Given the description of an element on the screen output the (x, y) to click on. 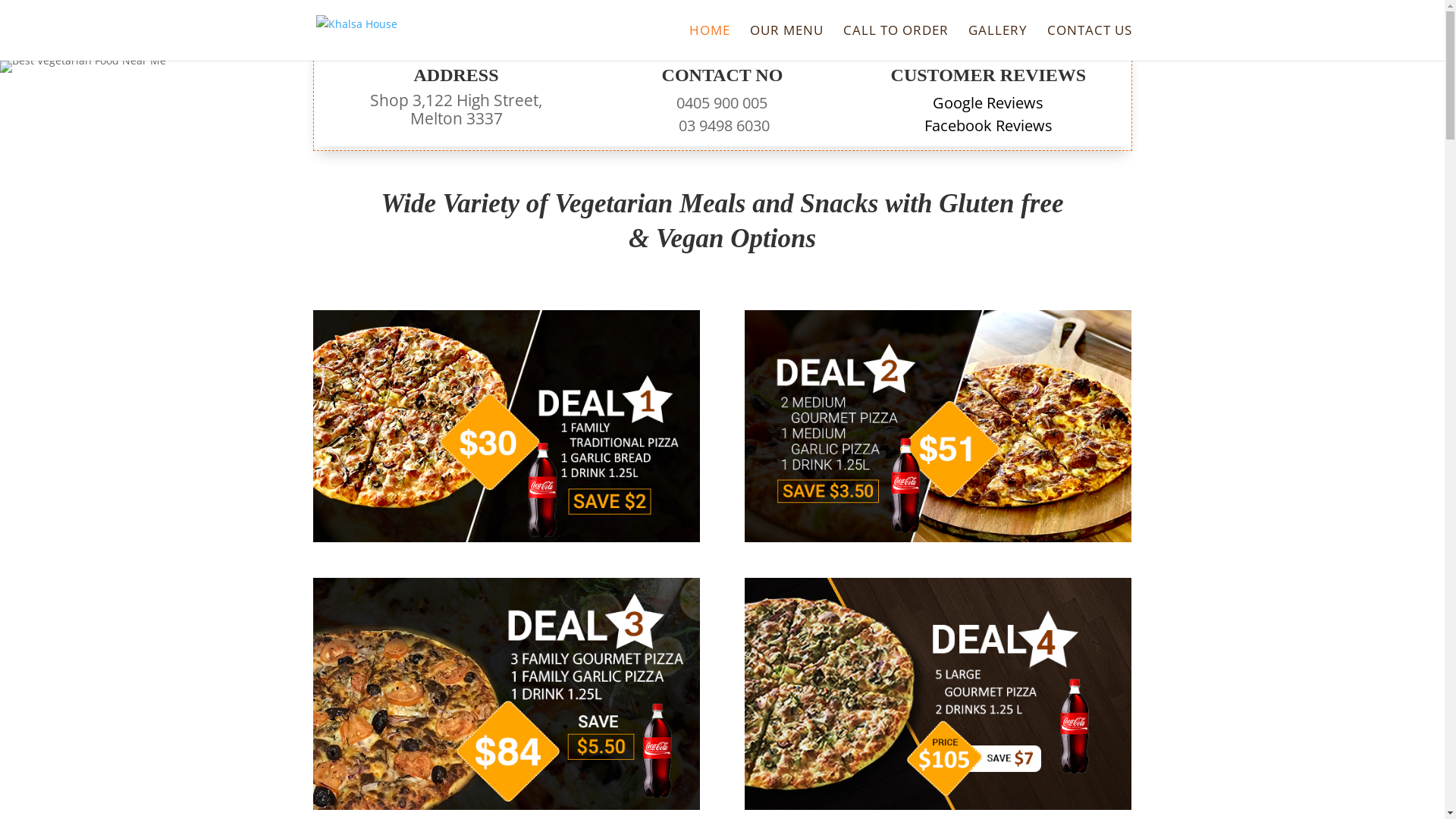
Best pizza in melbourne Element type: hover (505, 426)
Google Reviews Element type: text (987, 102)
OUR MENU Element type: text (785, 42)
CALL TO ORDER Element type: text (895, 42)
Best Vegetarian Food Near Me Element type: hover (83, 66)
Tasty Pizza In Melbourne Element type: hover (937, 693)
Best Pizza in Melbourne Element type: hover (937, 426)
GALLERY Element type: text (996, 42)
Tasty Pizza Melbourne Element type: hover (505, 693)
CONTACT US Element type: text (1088, 42)
Facebook Reviews Element type: text (988, 125)
HOME Element type: text (708, 42)
